Given the description of an element on the screen output the (x, y) to click on. 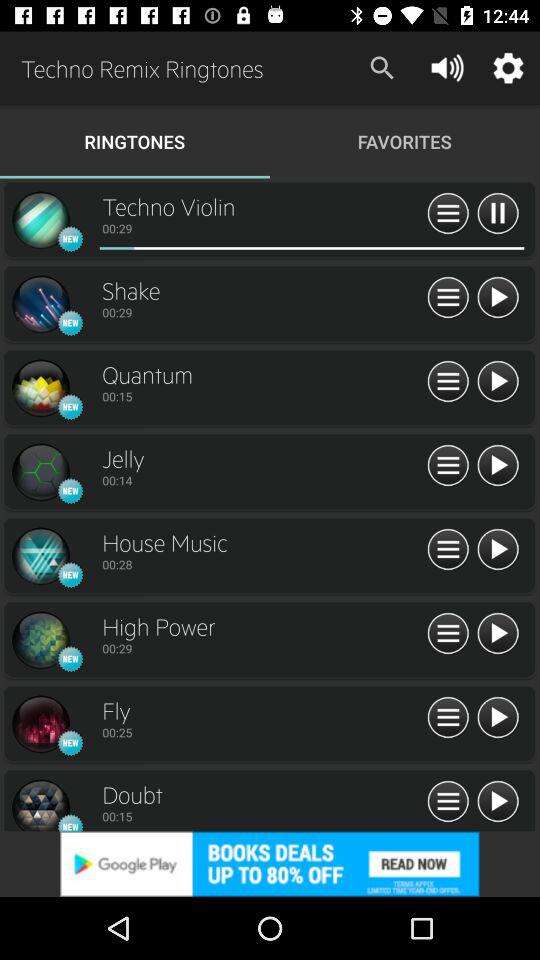
set ringtone as (447, 381)
